Given the description of an element on the screen output the (x, y) to click on. 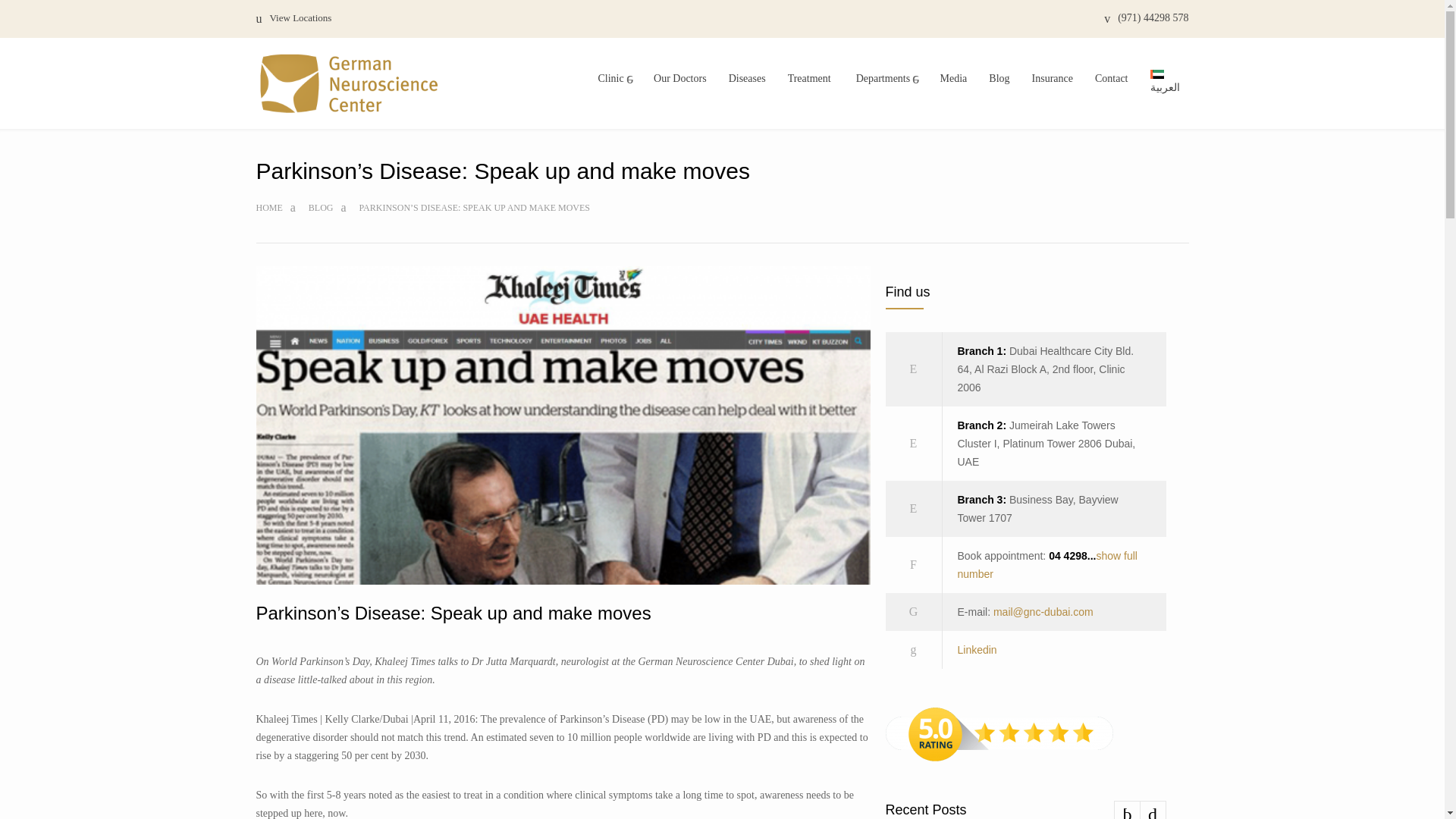
HOME (269, 207)
Media (953, 78)
Our Doctors (680, 78)
Blog (320, 207)
Home (269, 207)
Insurance (1052, 78)
Contact (1111, 78)
Diseases (746, 78)
Treatment (809, 78)
Clinic (612, 78)
Blog (998, 78)
title attributes (612, 78)
View Locations (293, 19)
Departments (885, 78)
Recent Posts (1025, 809)
